Given the description of an element on the screen output the (x, y) to click on. 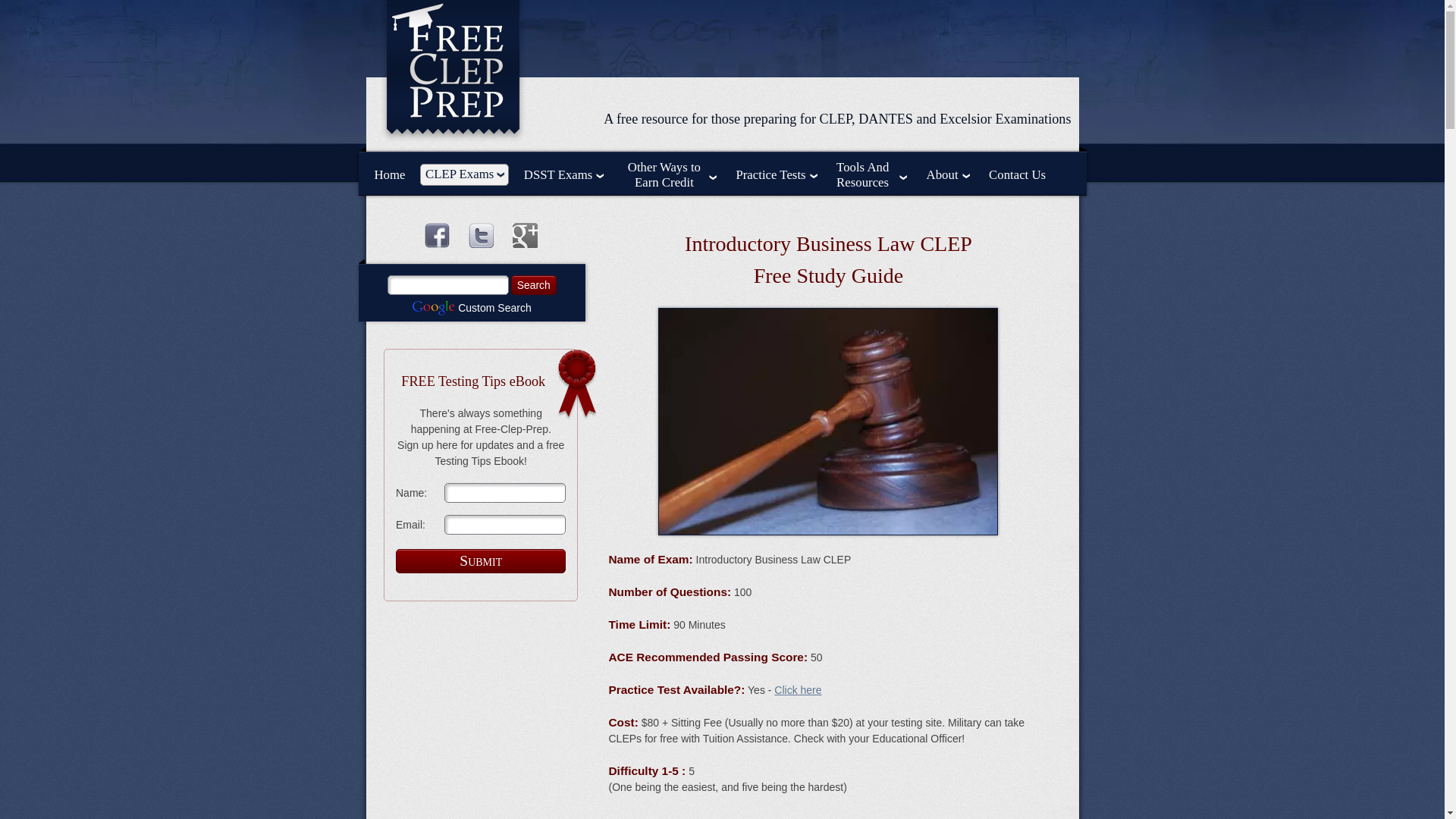
Search (533, 284)
About (947, 174)
Search (533, 284)
Practice Tests (775, 174)
Contact Us (1016, 174)
Home (389, 174)
Tools And Resources (871, 175)
CLEP Exams (464, 174)
Other Ways to Earn Credit (669, 175)
Advertisement (827, 815)
